Given the description of an element on the screen output the (x, y) to click on. 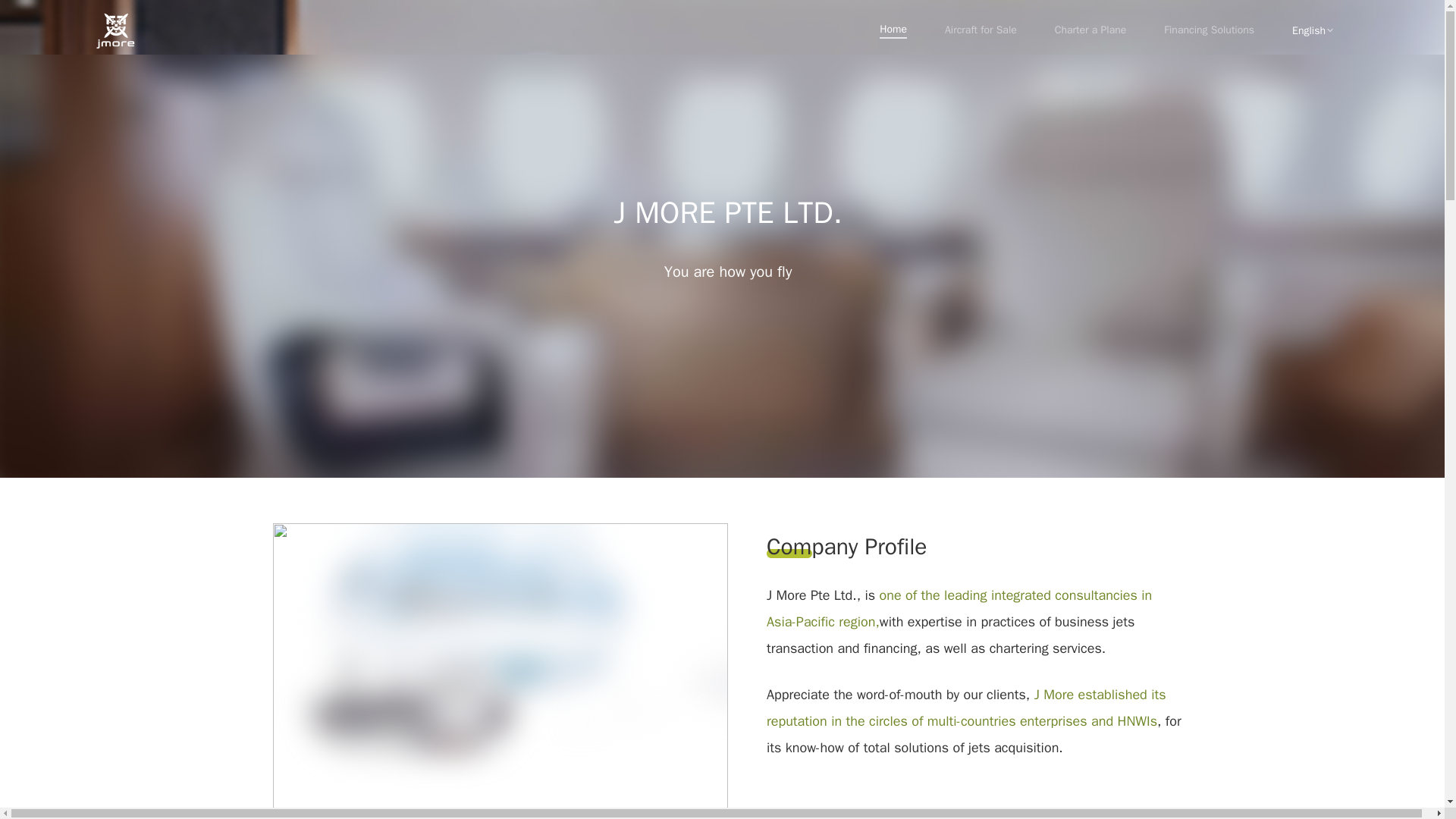
Charter a Plane (1090, 29)
Home (893, 30)
Aircraft for Sale (980, 29)
Financing Solutions (1208, 29)
